Given the description of an element on the screen output the (x, y) to click on. 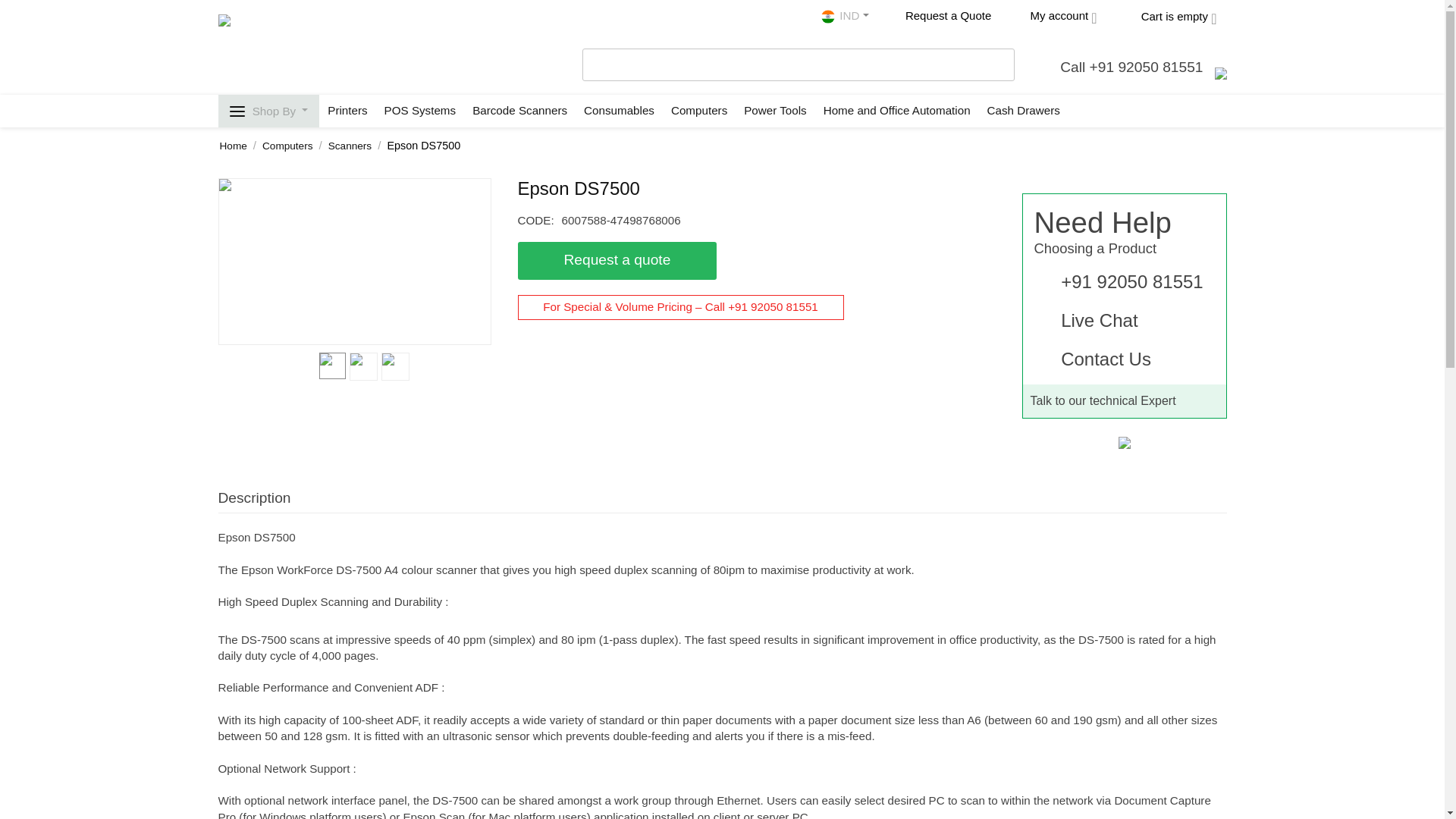
Cart is empty (1166, 16)
POS Central India (271, 45)
IND (844, 15)
Search (1000, 61)
Search products (798, 64)
POS Central India (830, 17)
Request a Quote (938, 16)
6007588-47498768006 (353, 261)
 My account (1053, 16)
POS Central India (271, 43)
